Given the description of an element on the screen output the (x, y) to click on. 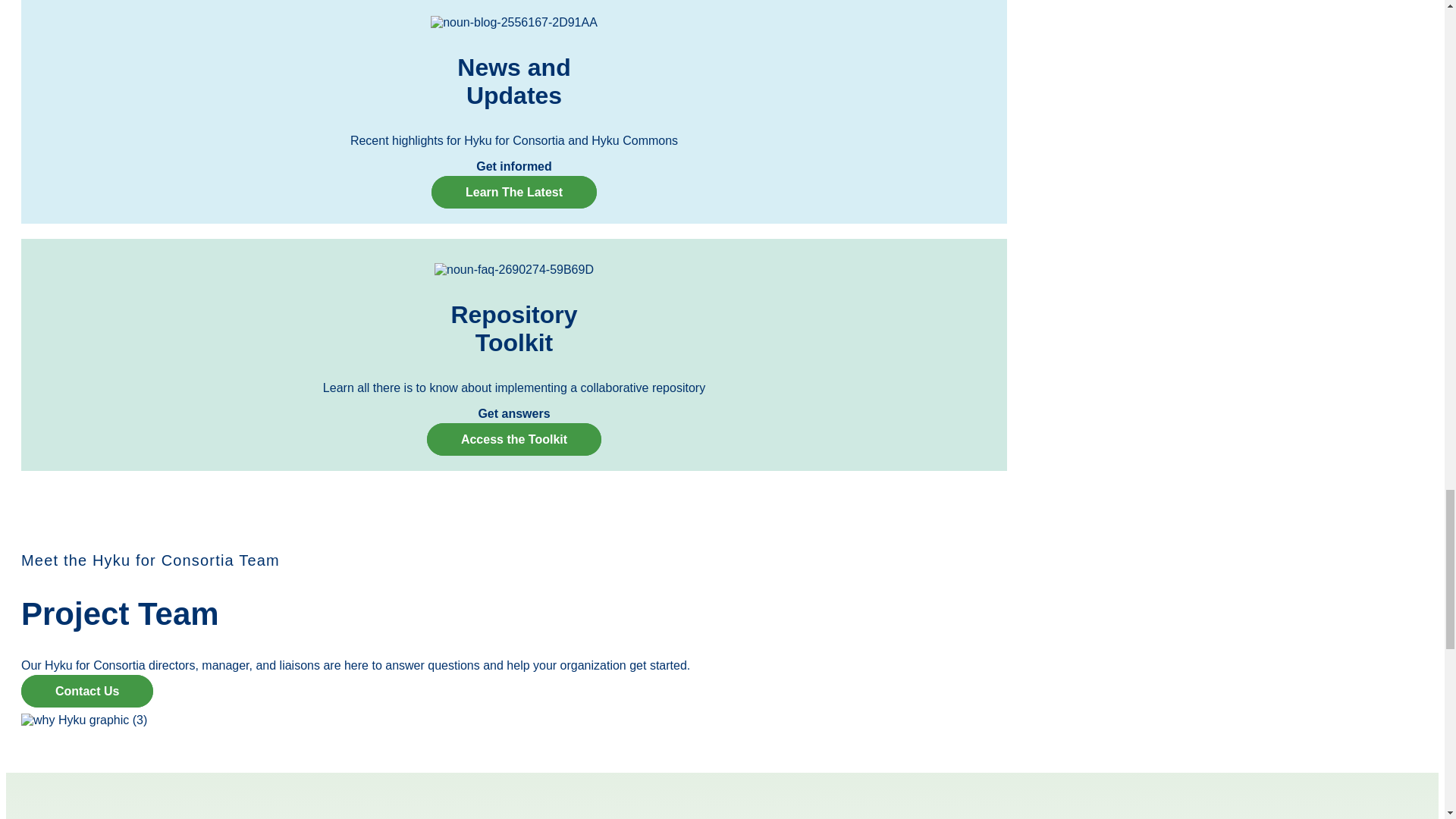
noun-blog-2556167-2D91AA (513, 22)
Contact Us (86, 690)
Learn The Latest (513, 192)
Access the Toolkit (513, 439)
noun-faq-2690274-59B69D (513, 269)
